Given the description of an element on the screen output the (x, y) to click on. 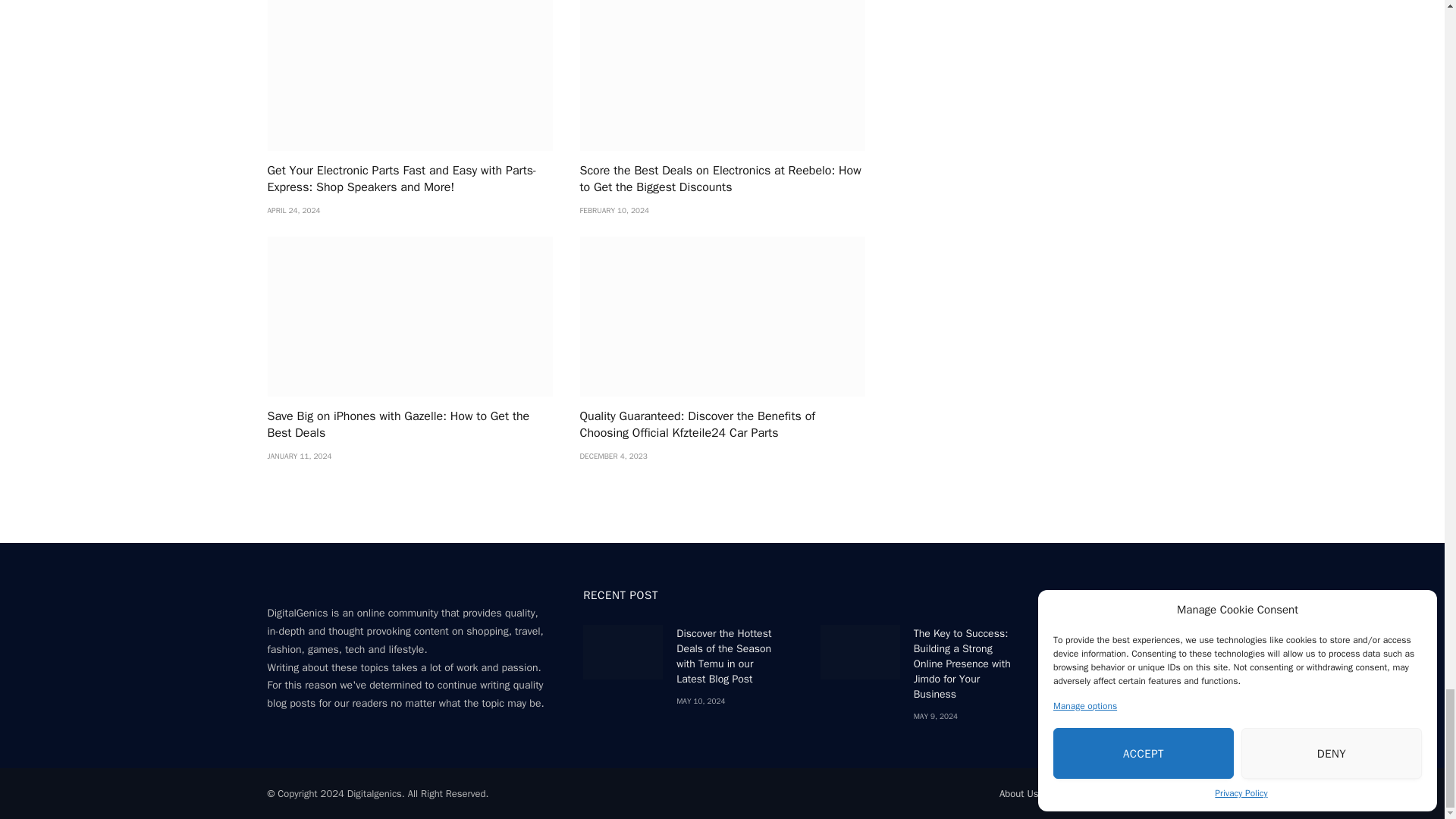
Save Big on iPhones with Gazelle: How to Get the Best Deals (408, 316)
